Given the description of an element on the screen output the (x, y) to click on. 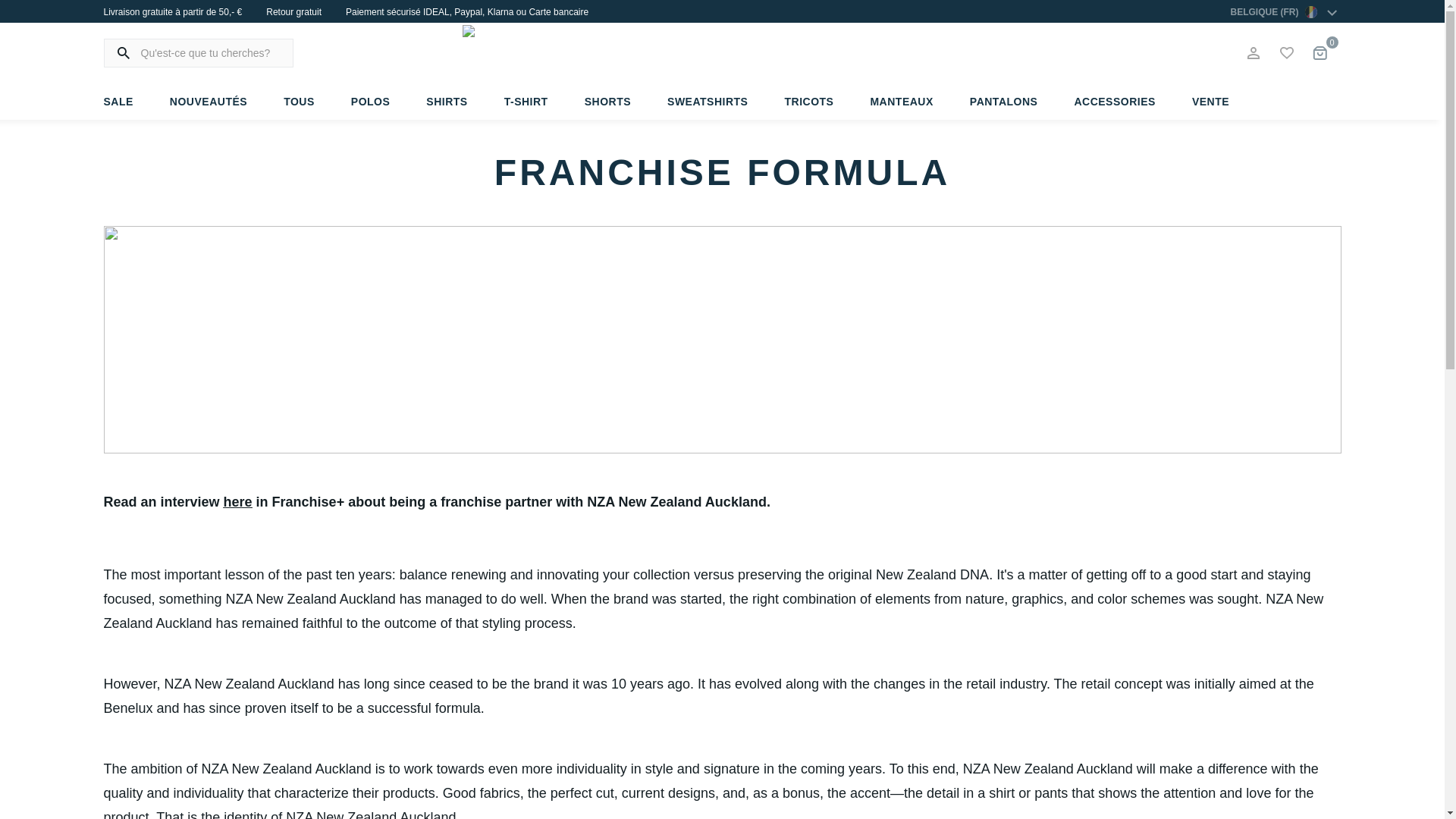
SALE (127, 101)
T-SHIRT (526, 101)
0 (1319, 52)
TOUS (298, 101)
TRICOTS (808, 101)
POLOS (371, 101)
ACCESSORIES (1114, 101)
SWEATSHIRTS (707, 101)
PANTALONS (1004, 101)
NZA New Zealand Auckland (722, 52)
MANTEAUX (900, 101)
SHORTS (607, 101)
SHIRTS (445, 101)
